Given the description of an element on the screen output the (x, y) to click on. 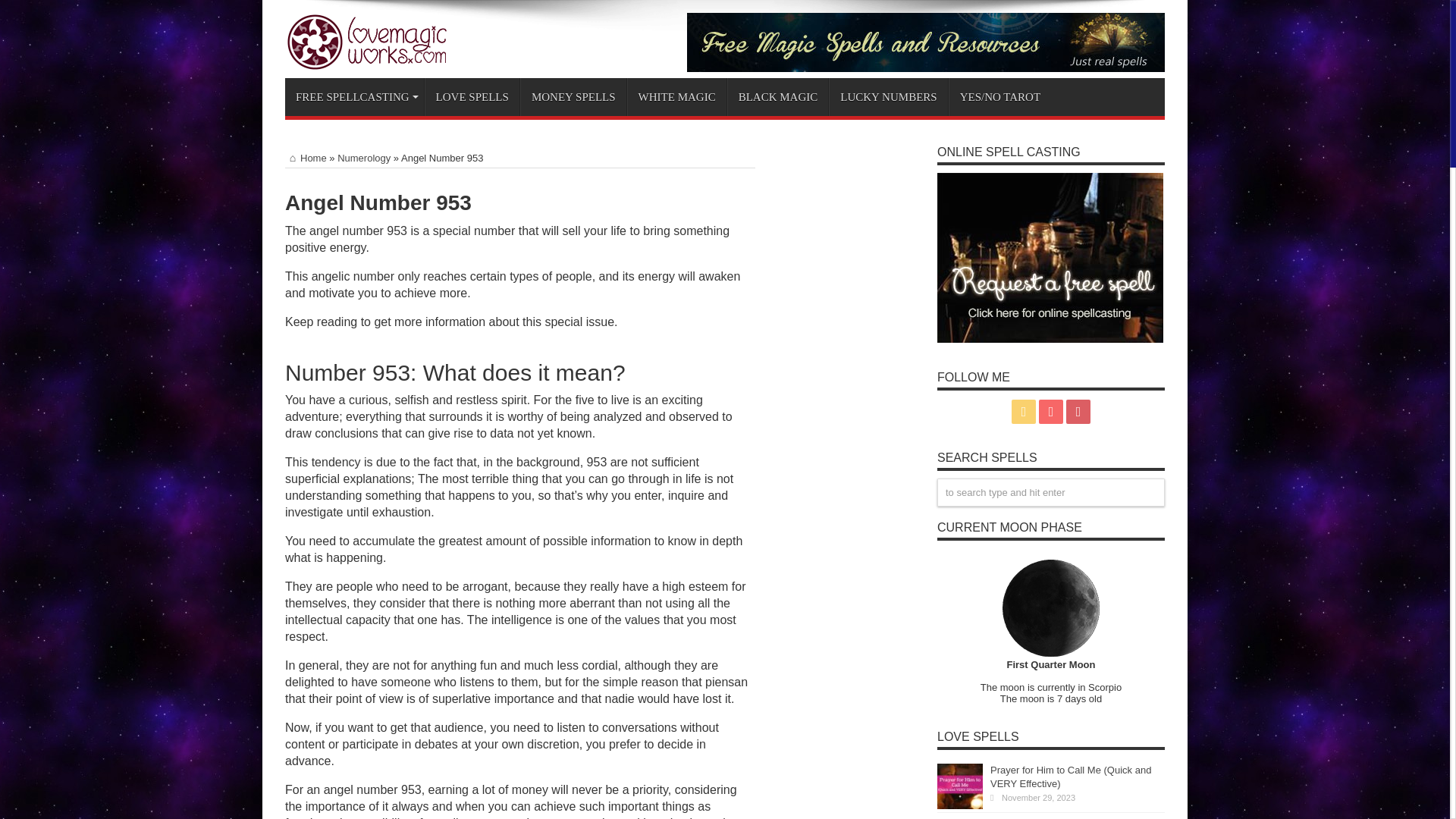
LOVE SPELLS (472, 96)
FREE SPELLCASTING (354, 96)
Free magic spells  (925, 68)
to search type and hit enter (1050, 492)
Home (305, 157)
WHITE MAGIC (676, 96)
Love Magic Works (374, 58)
MONEY SPELLS (572, 96)
LUCKY NUMBERS (887, 96)
Numerology (363, 157)
